Given the description of an element on the screen output the (x, y) to click on. 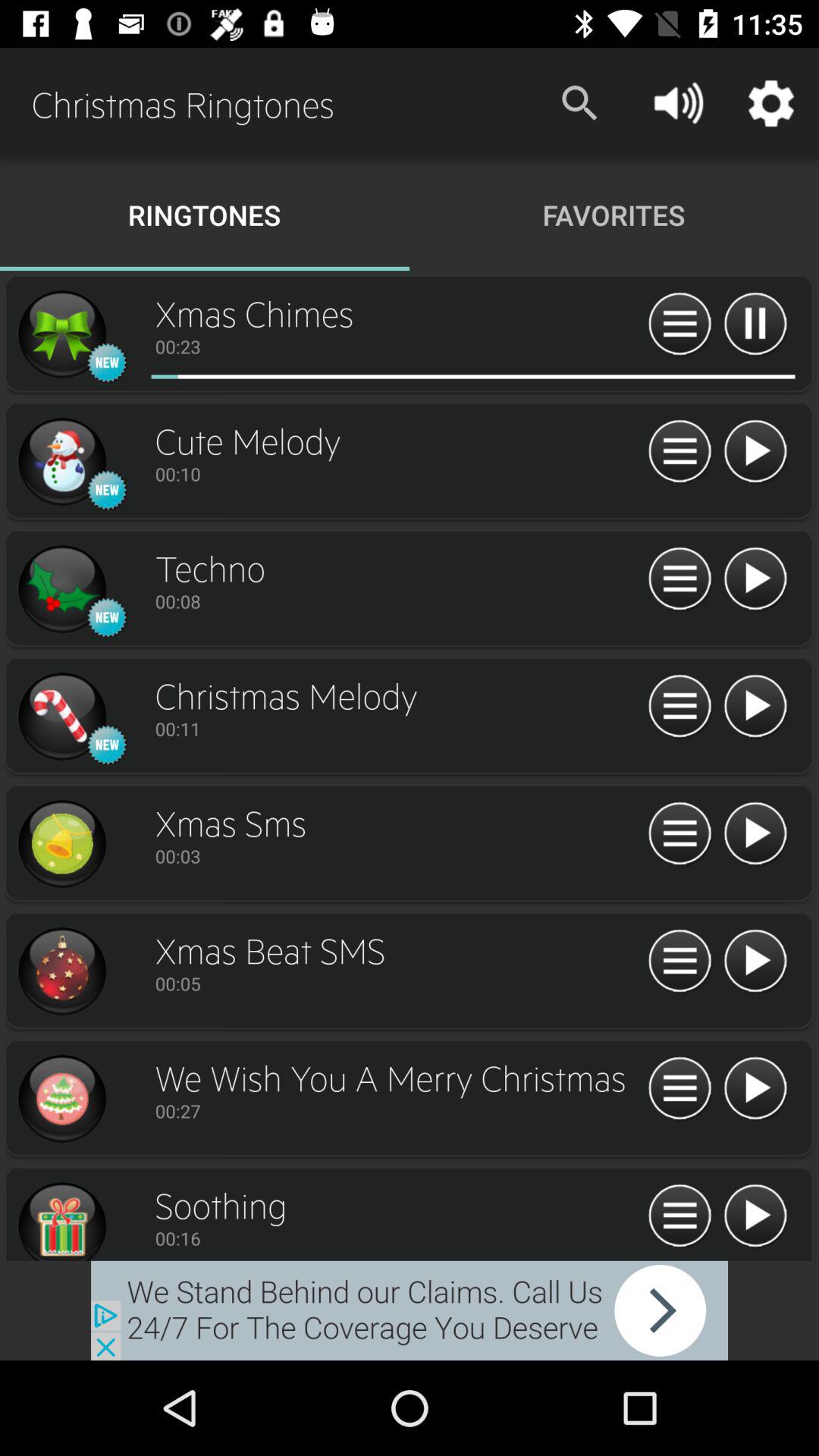
logo (61, 462)
